Given the description of an element on the screen output the (x, y) to click on. 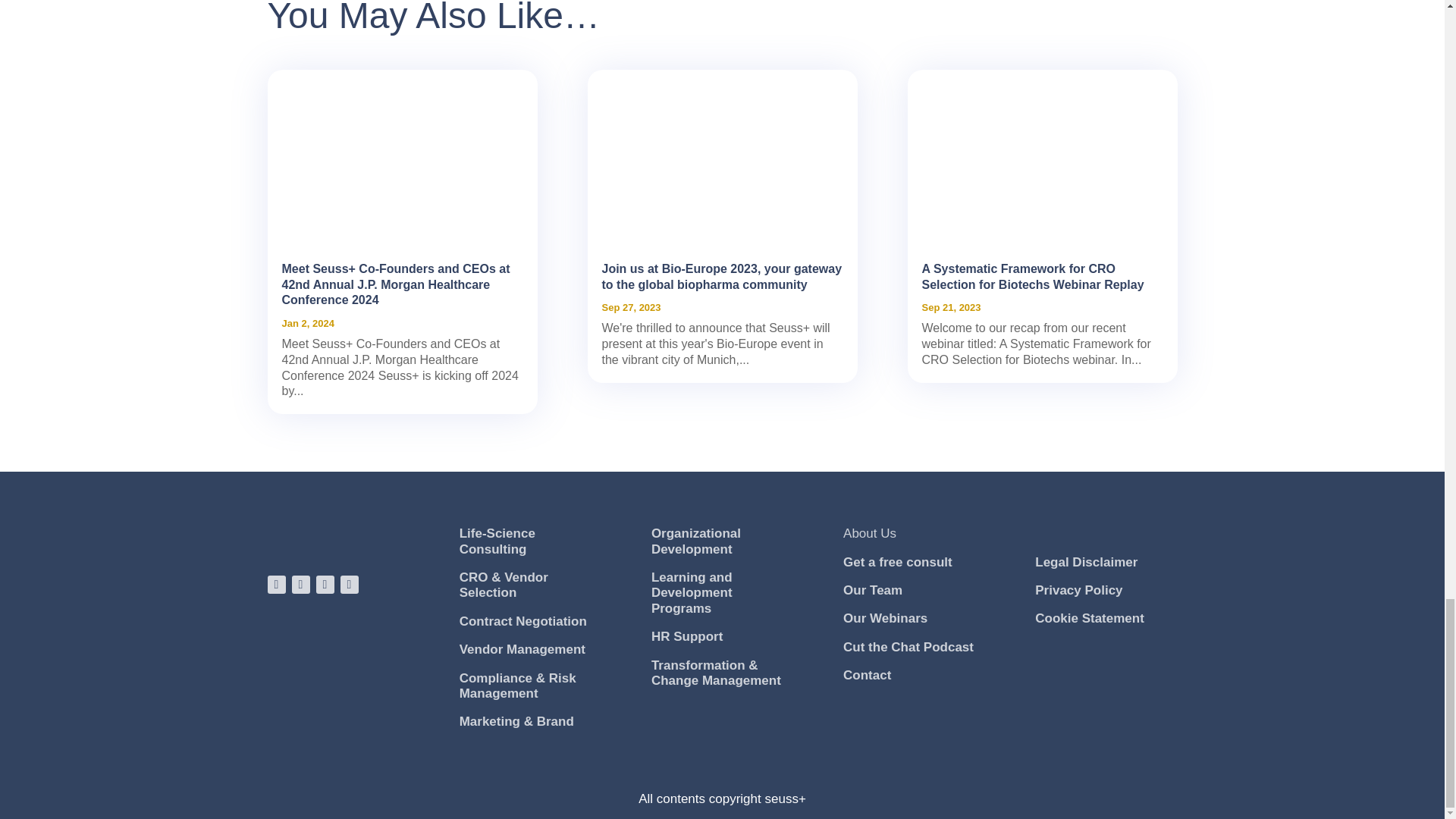
Follow on Twitter (351, 587)
Follow on LinkedIn (278, 587)
Follow on Facebook (303, 587)
Follow on Youtube (327, 587)
